Given the description of an element on the screen output the (x, y) to click on. 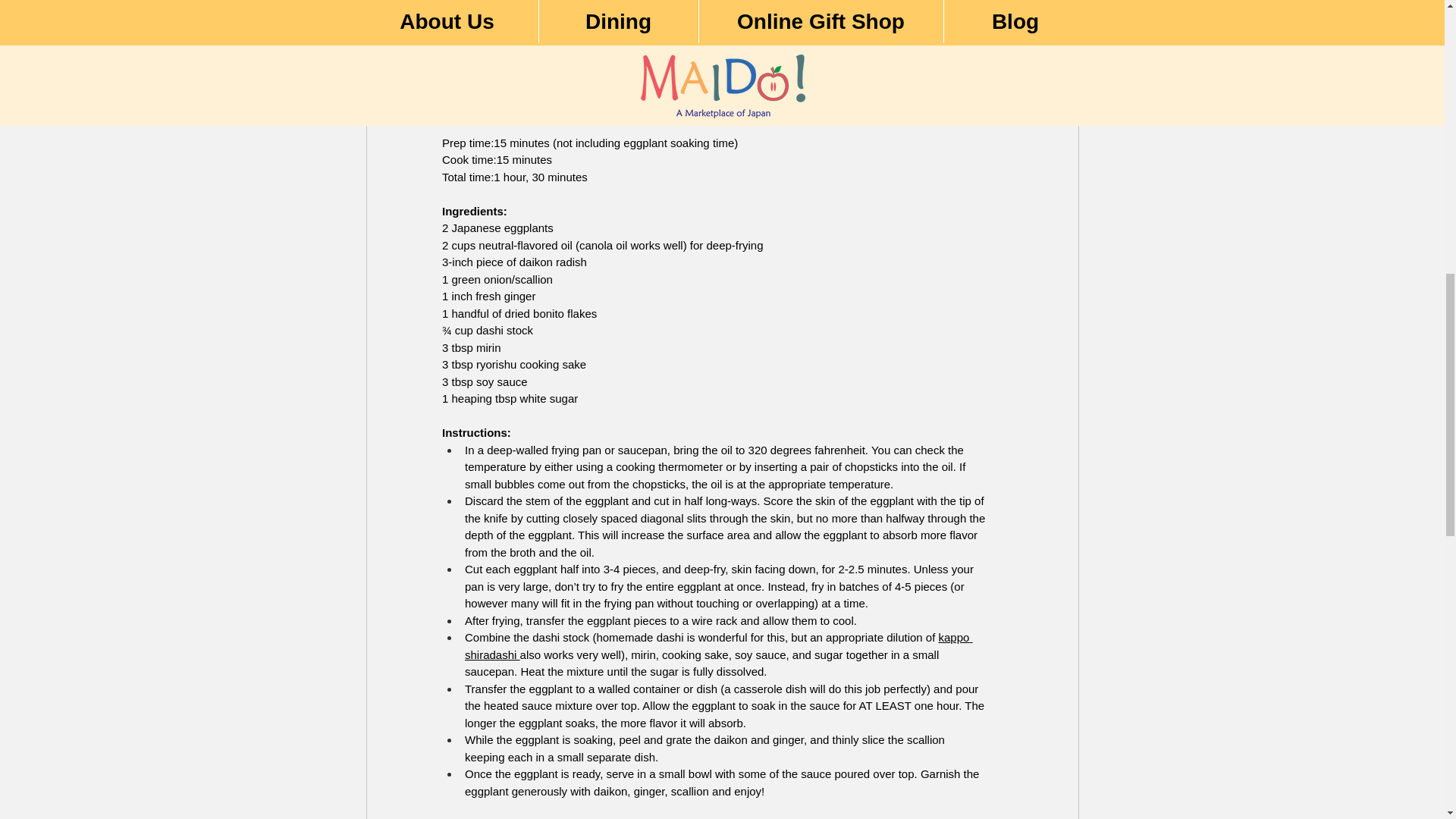
kappo shiradashi  (718, 645)
